Given the description of an element on the screen output the (x, y) to click on. 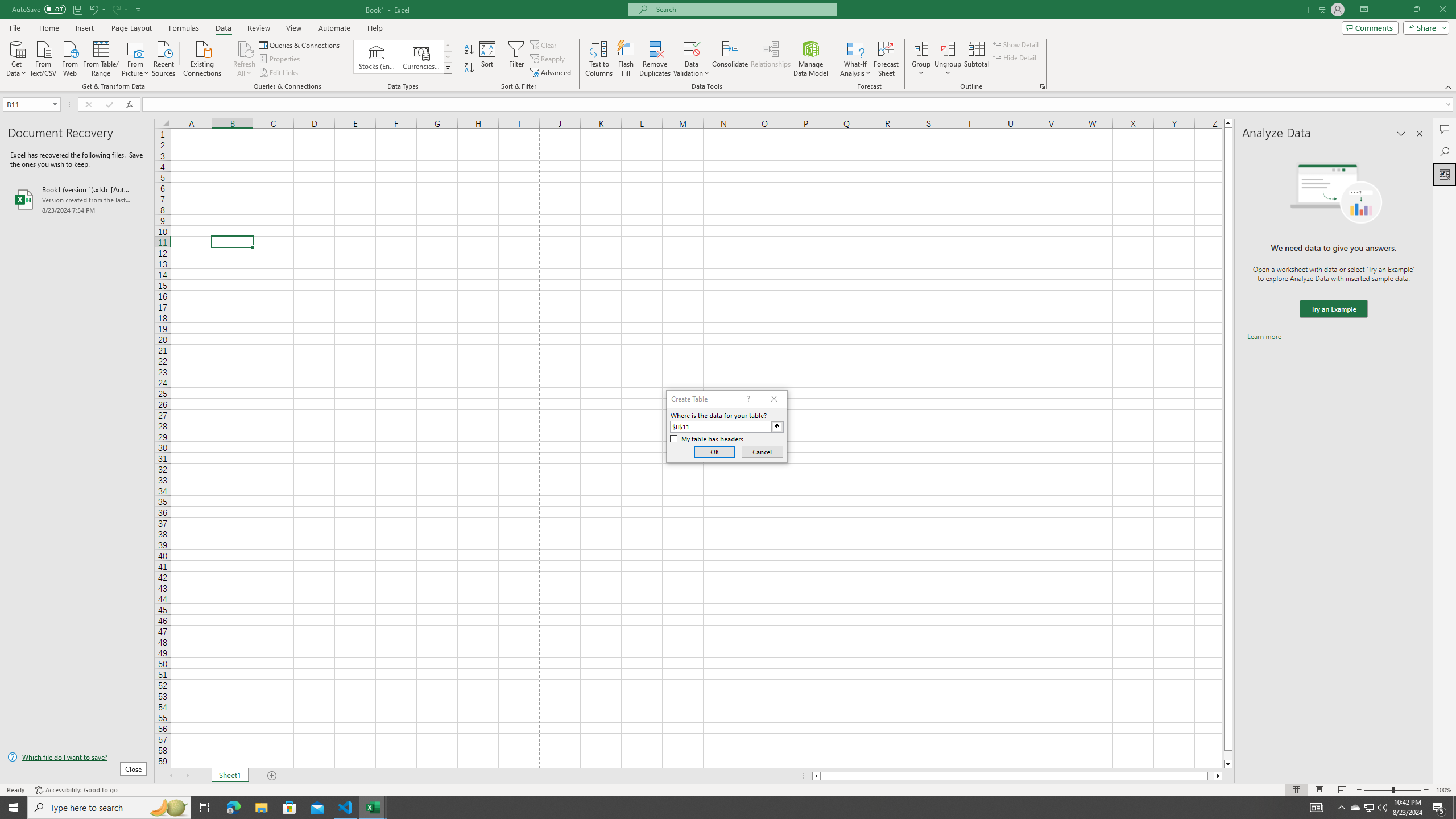
Stocks (English) (375, 56)
AutomationID: ConvertToLinkedEntity (403, 56)
From Text/CSV (43, 57)
Reapply (548, 58)
Sort A to Z (469, 49)
Flash Fill (625, 58)
Data Types (448, 67)
Remove Duplicates (654, 58)
Advanced... (551, 72)
Ungroup... (947, 58)
Page down (1228, 755)
Queries & Connections (300, 44)
